Given the description of an element on the screen output the (x, y) to click on. 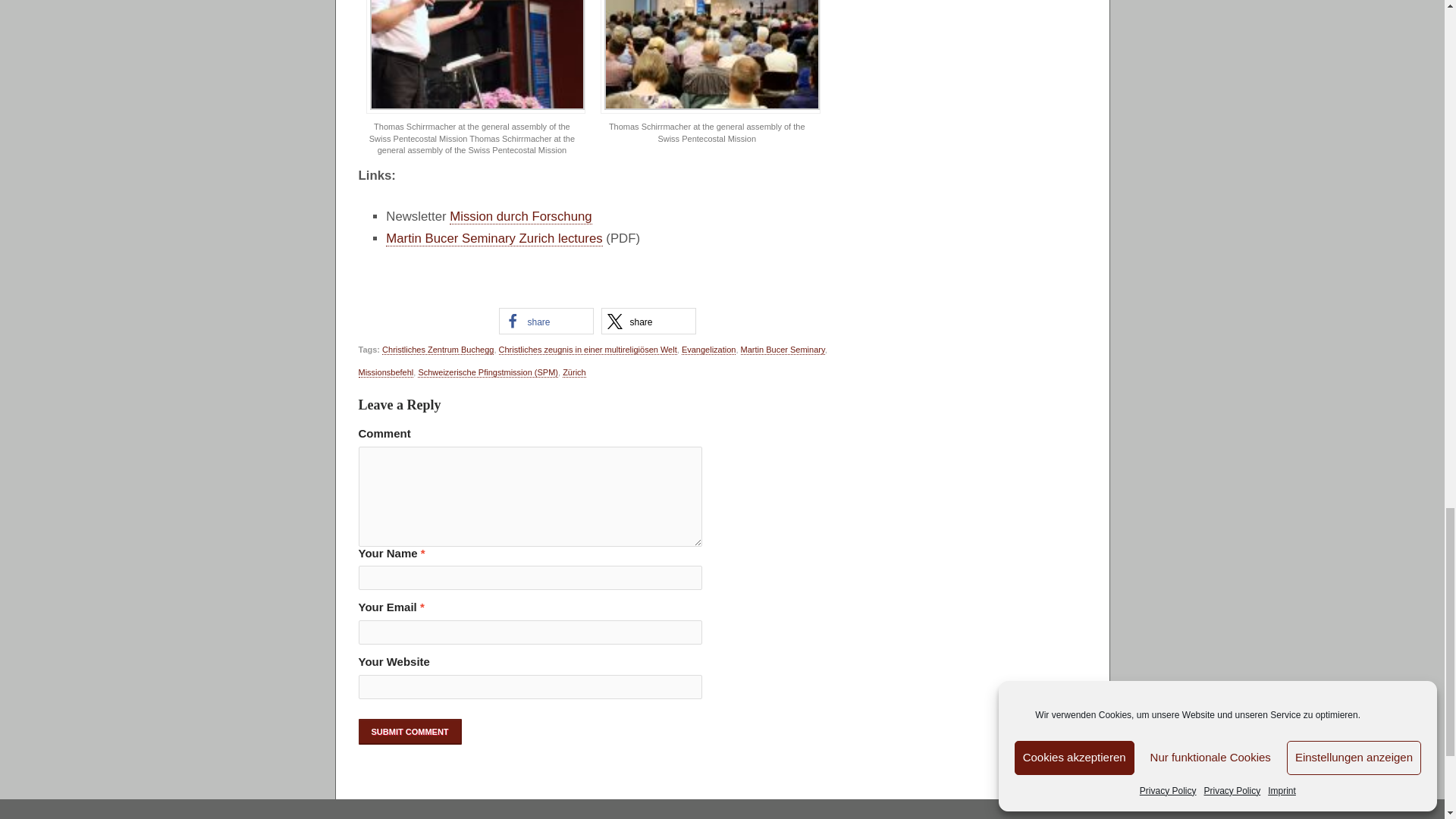
Share on Facebook (546, 320)
Share on X (647, 320)
Submit Comment (409, 731)
